Given the description of an element on the screen output the (x, y) to click on. 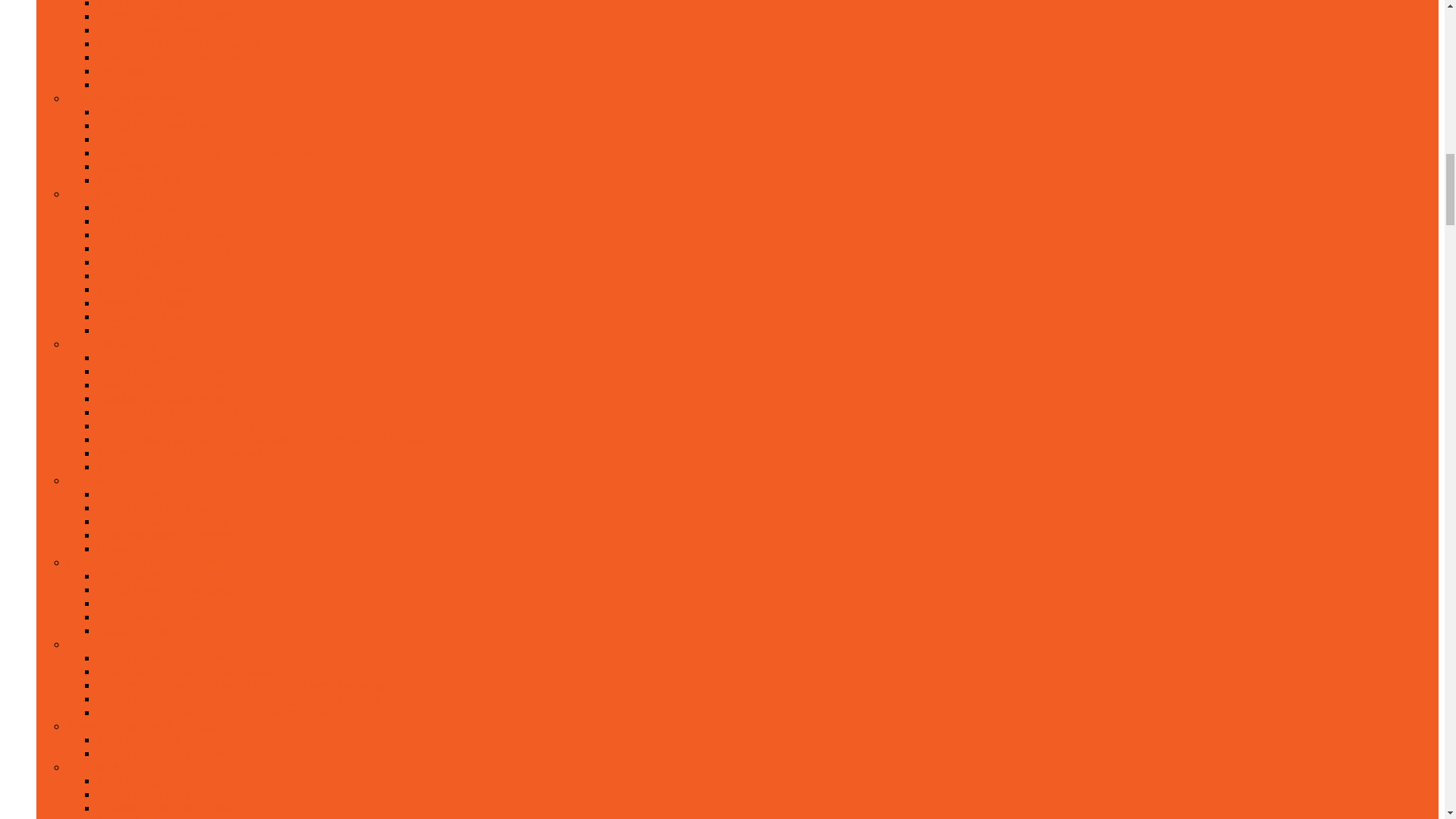
Facts and figures: Women, peace, and security (138, 357)
UNiTE by 2030 to End Violence against Women campaign (140, 329)
